Given the description of an element on the screen output the (x, y) to click on. 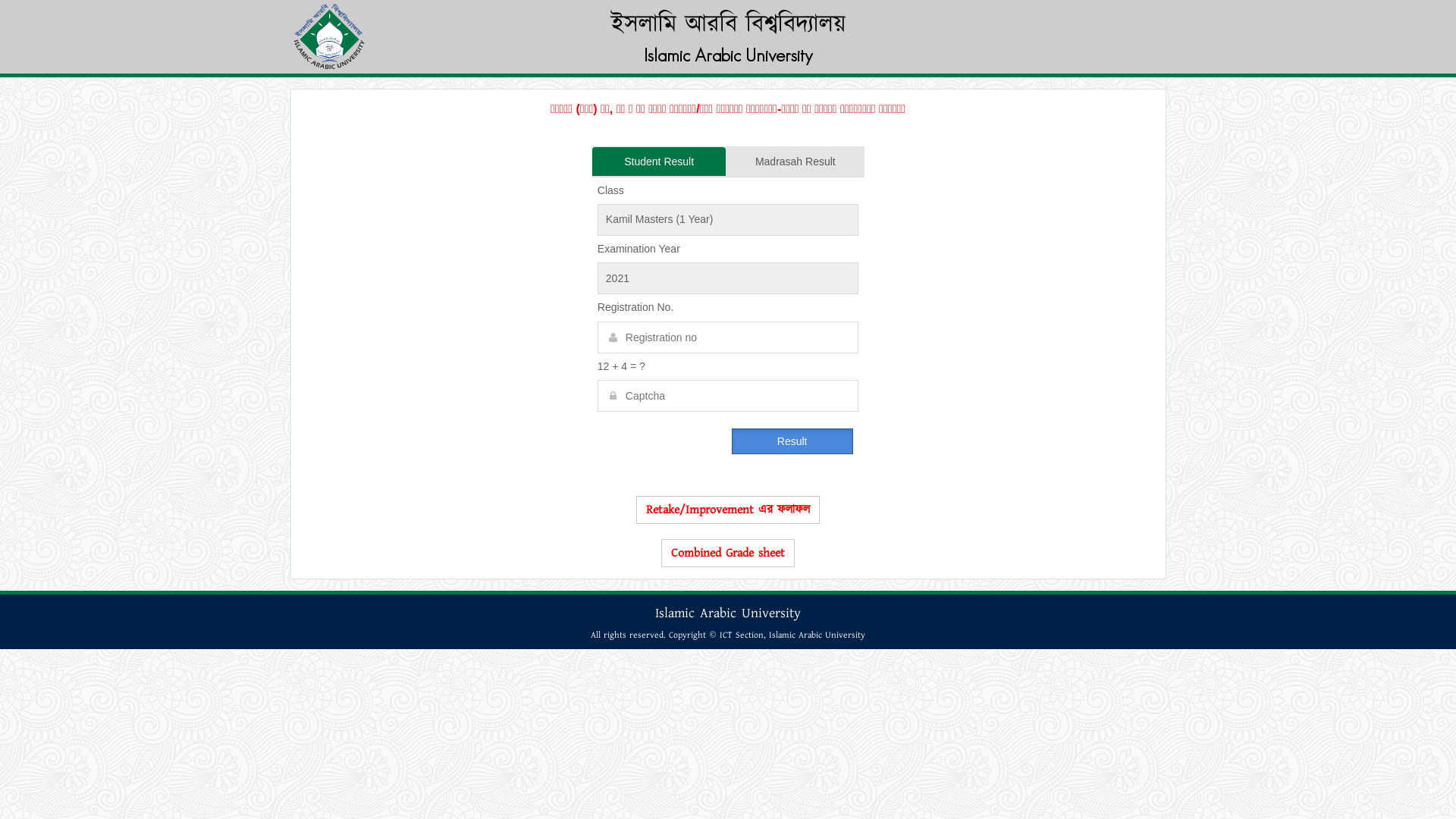
Islamic Arabic University Element type: text (816, 634)
Madrasah Result Element type: text (795, 161)
Student Result Element type: text (658, 161)
Combined Grade sheet Element type: text (727, 553)
Result Element type: text (792, 441)
Islamic Arabic University Element type: text (727, 54)
